Given the description of an element on the screen output the (x, y) to click on. 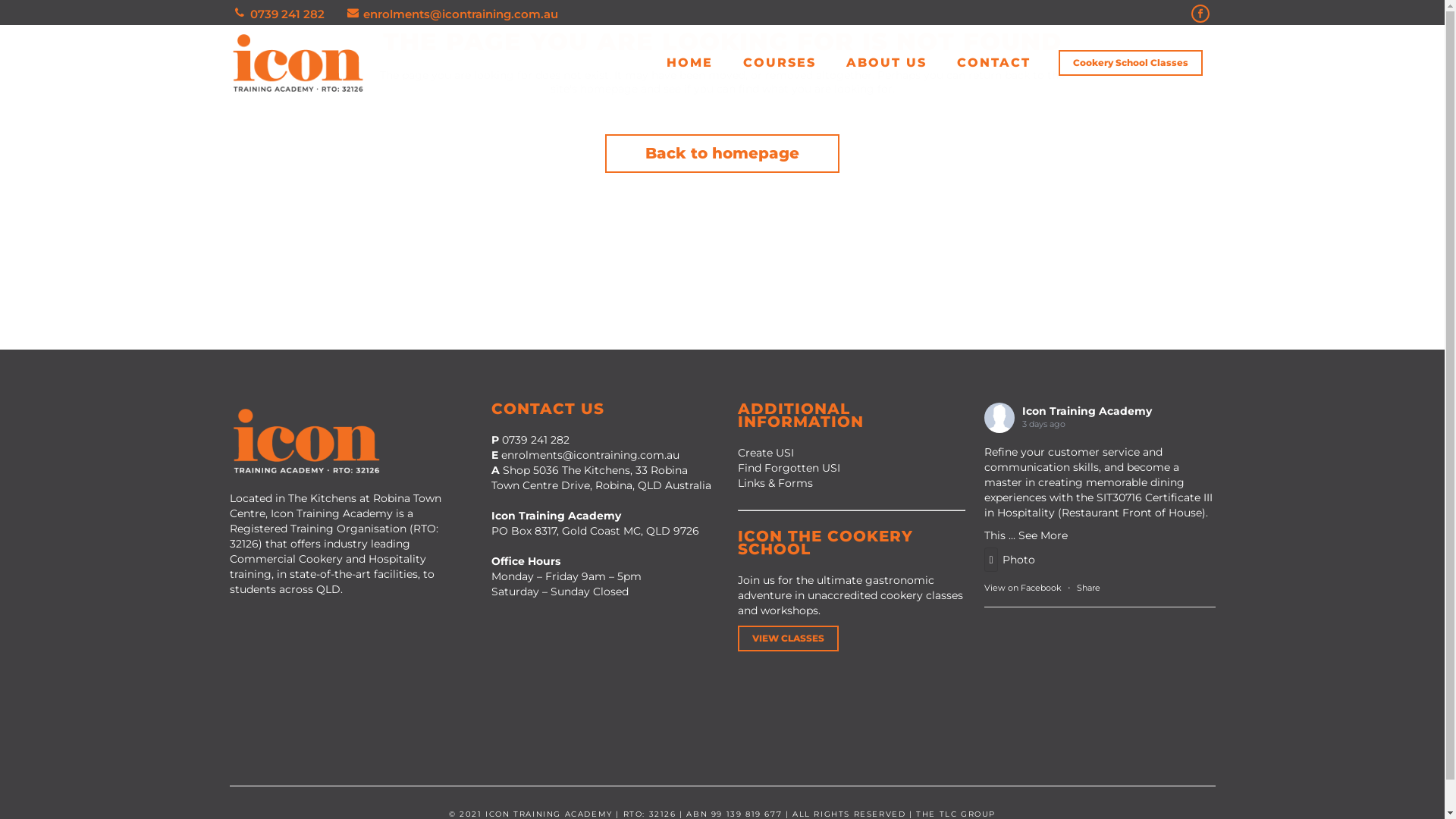
ABOUT US Element type: text (886, 62)
Icon Training Academy Element type: text (1086, 410)
Create USI Element type: text (765, 452)
Share Element type: text (1088, 587)
VIEW CLASSES Element type: text (787, 638)
Photo Element type: text (1009, 559)
Find Forgotten USI Element type: text (788, 467)
HOME Element type: text (688, 62)
See More Element type: text (1041, 535)
Links & Forms Element type: text (774, 482)
COURSES Element type: text (779, 62)
CONTACT Element type: text (993, 62)
Cookery School Classes Element type: text (1130, 62)
View on Facebook Element type: text (1022, 587)
Back to homepage Element type: text (722, 153)
